Given the description of an element on the screen output the (x, y) to click on. 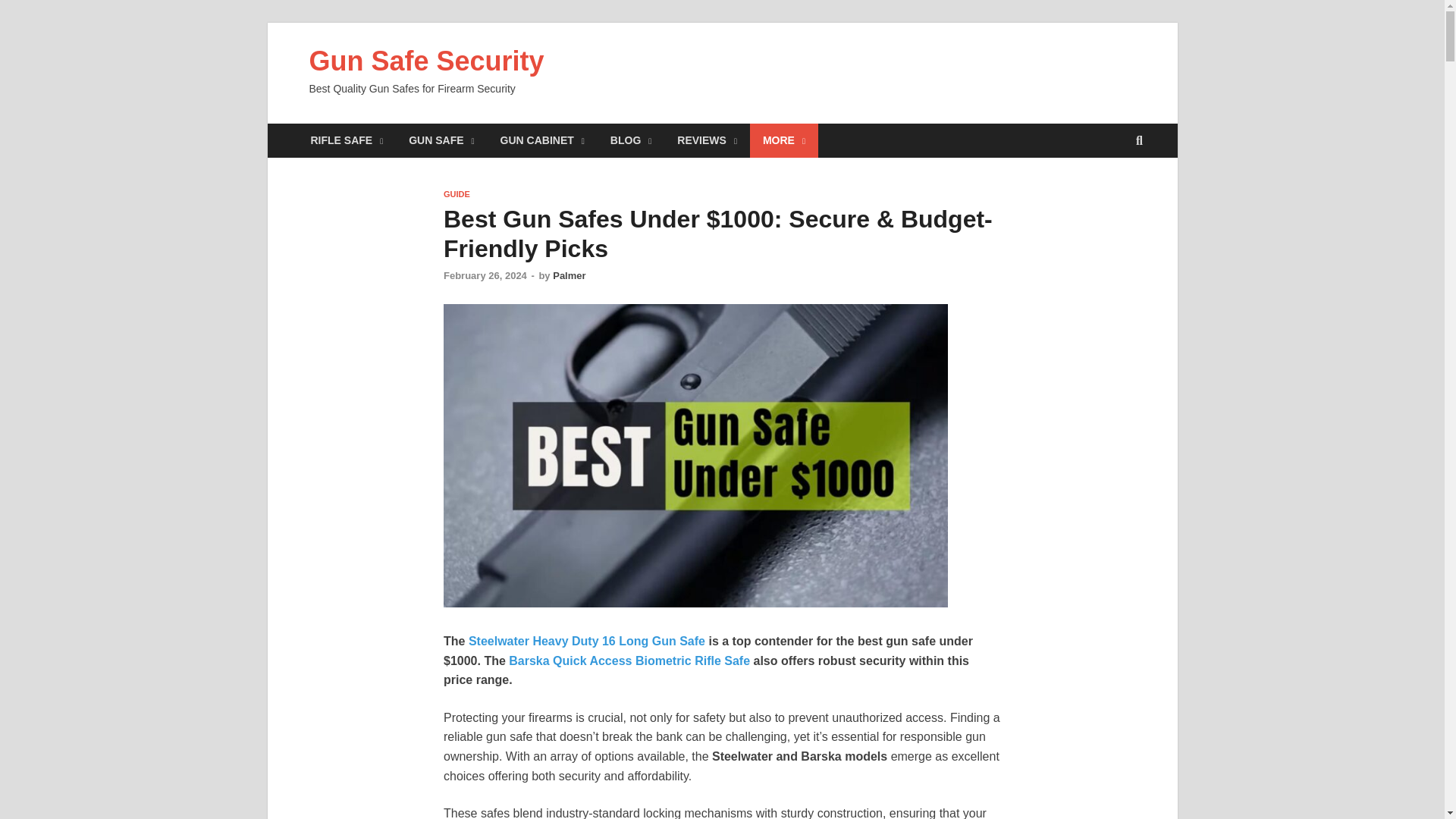
GUN SAFE (441, 140)
BLOG (629, 140)
Gun Safe Security (426, 60)
GUN CABINET (541, 140)
RIFLE SAFE (346, 140)
